Given the description of an element on the screen output the (x, y) to click on. 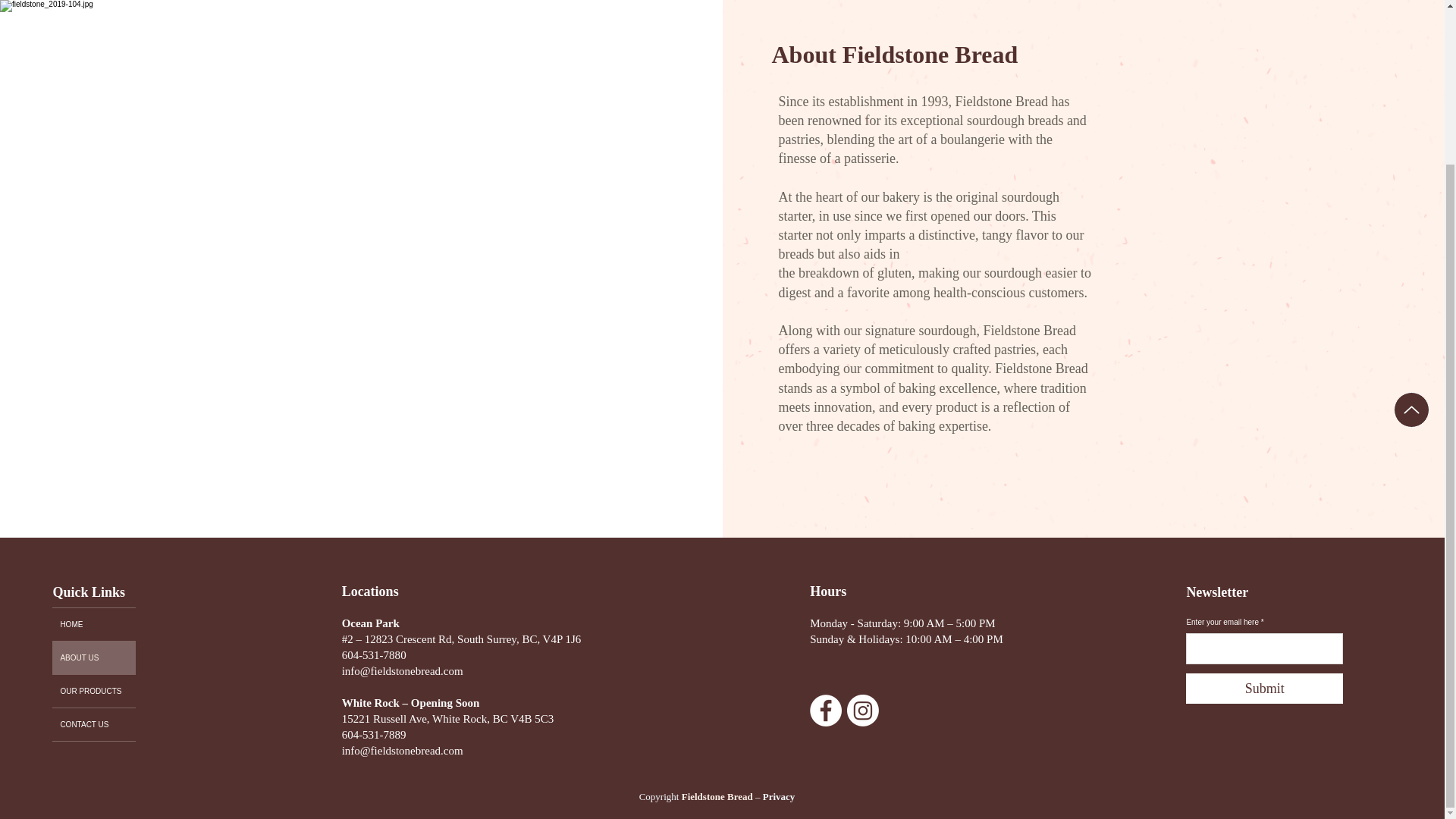
Submit (1264, 688)
HOME (93, 624)
604-531-788 (371, 654)
ABOUT US (93, 657)
604-531-7889 (374, 734)
Privacy (778, 796)
CONTACT US (93, 724)
